Given the description of an element on the screen output the (x, y) to click on. 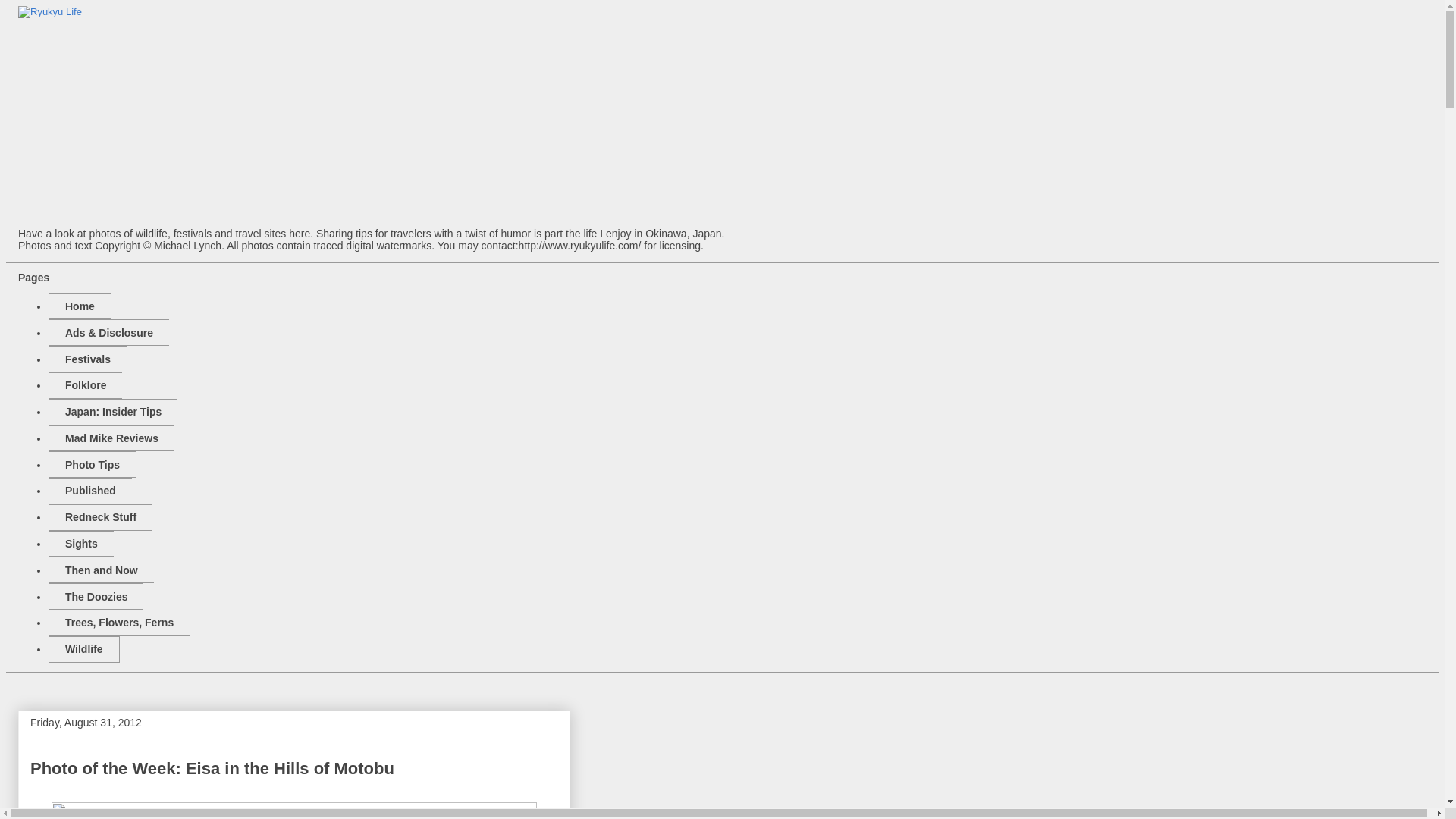
The Doozies (95, 596)
Sights (80, 543)
Redneck Stuff (100, 517)
Folklore (85, 385)
Then and Now (101, 569)
Japan: Insider Tips (112, 411)
Mad Mike Reviews (111, 438)
Wildlife (83, 649)
Photo Tips (91, 464)
Published (90, 490)
Trees, Flowers, Ferns (118, 622)
Festivals (87, 358)
Home (79, 306)
